Given the description of an element on the screen output the (x, y) to click on. 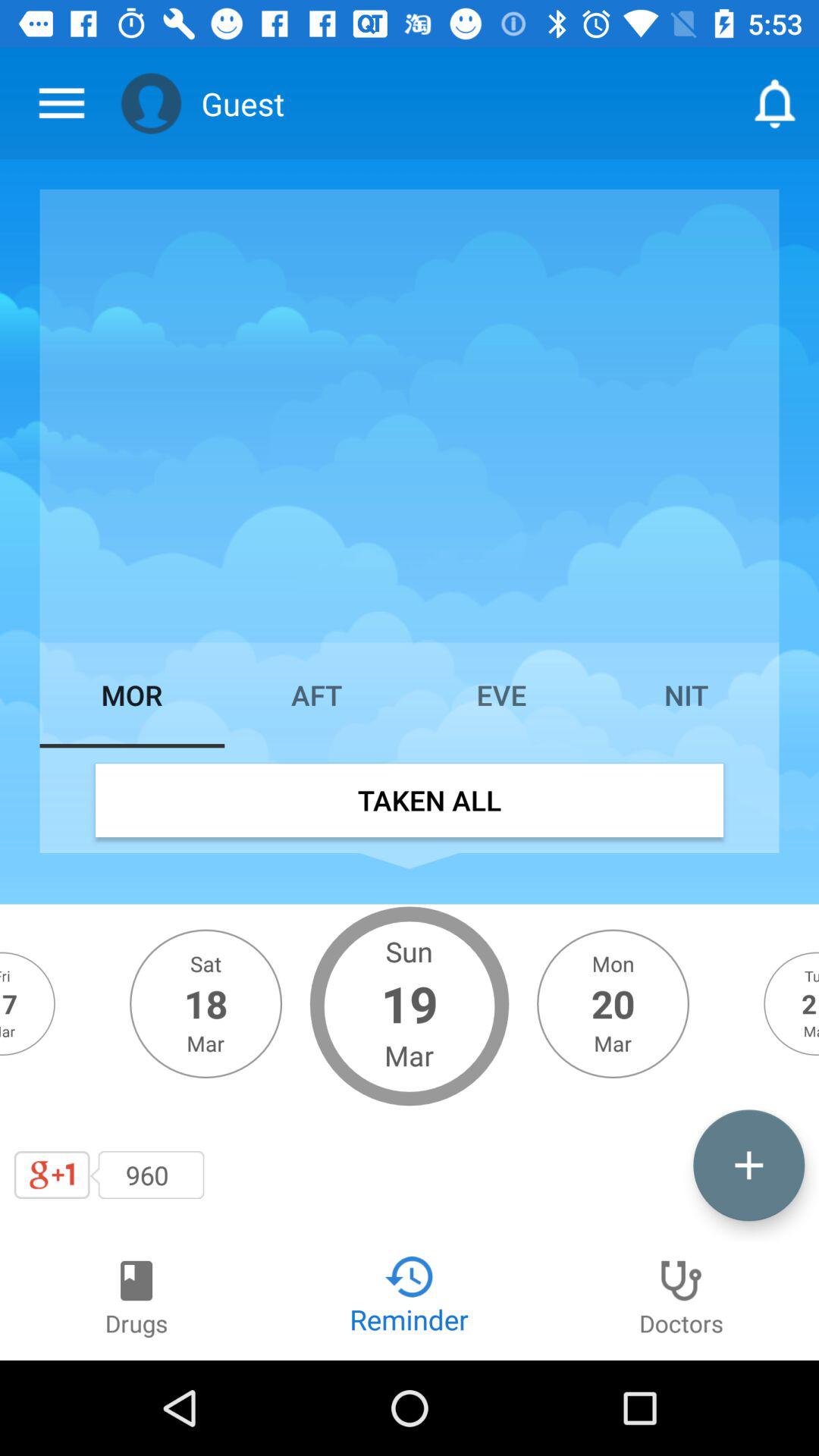
scroll until taken all (409, 800)
